Given the description of an element on the screen output the (x, y) to click on. 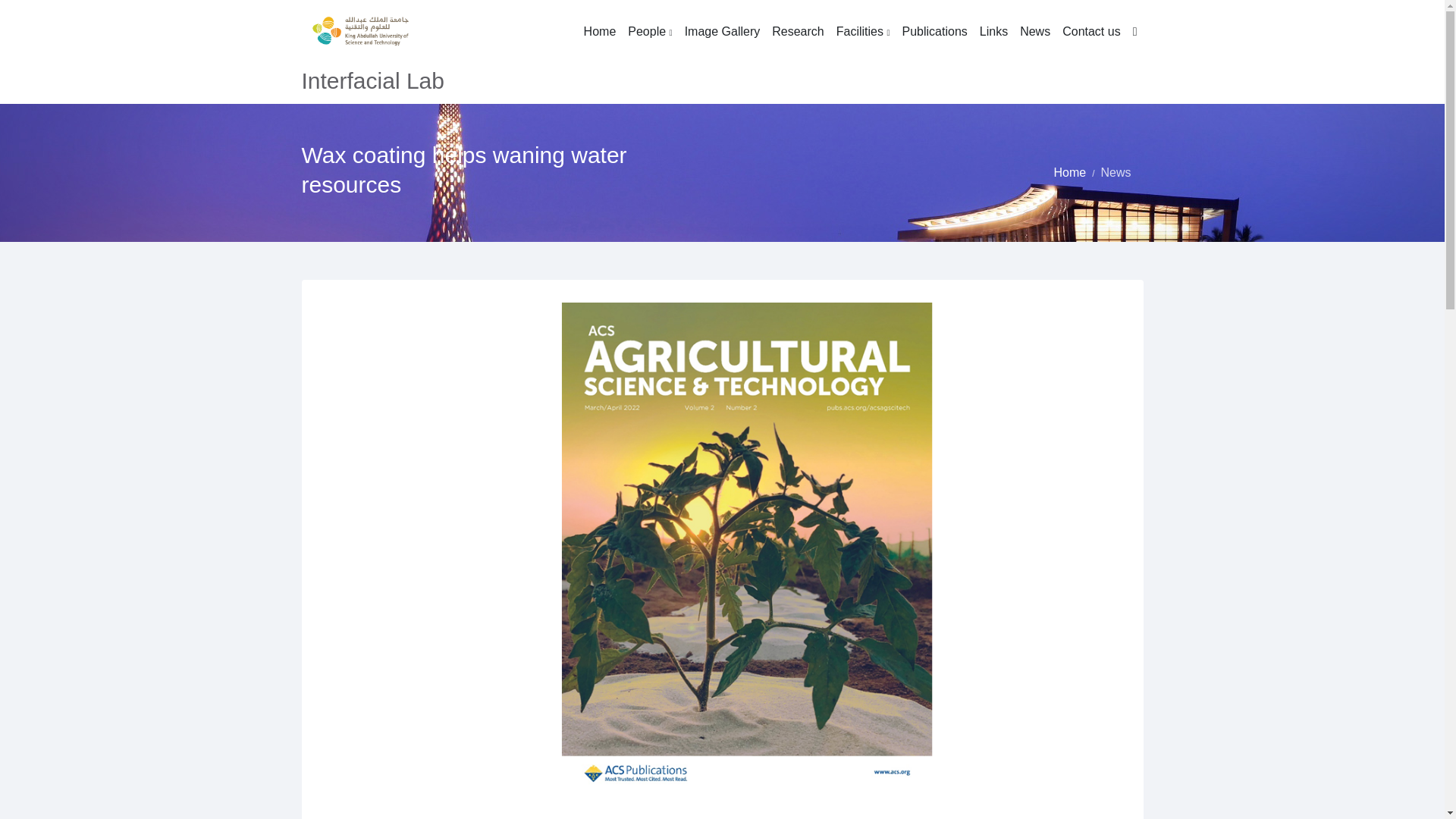
News (1115, 172)
Research (797, 31)
Contact us (1091, 31)
Image Gallery (722, 31)
Home (1069, 172)
Publications (935, 31)
Facilities (862, 31)
